Given the description of an element on the screen output the (x, y) to click on. 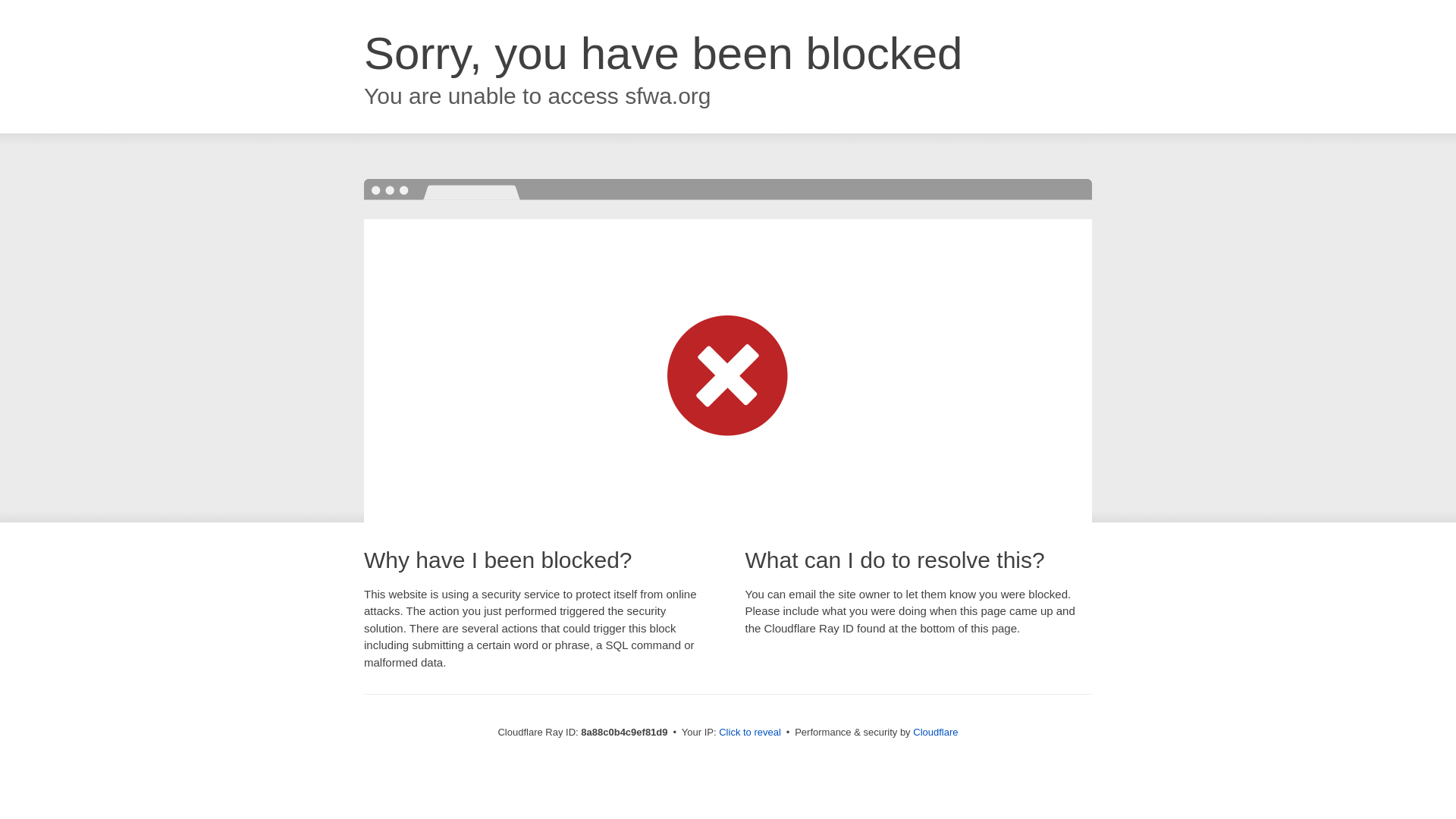
Cloudflare (935, 731)
Click to reveal (749, 732)
